Given the description of an element on the screen output the (x, y) to click on. 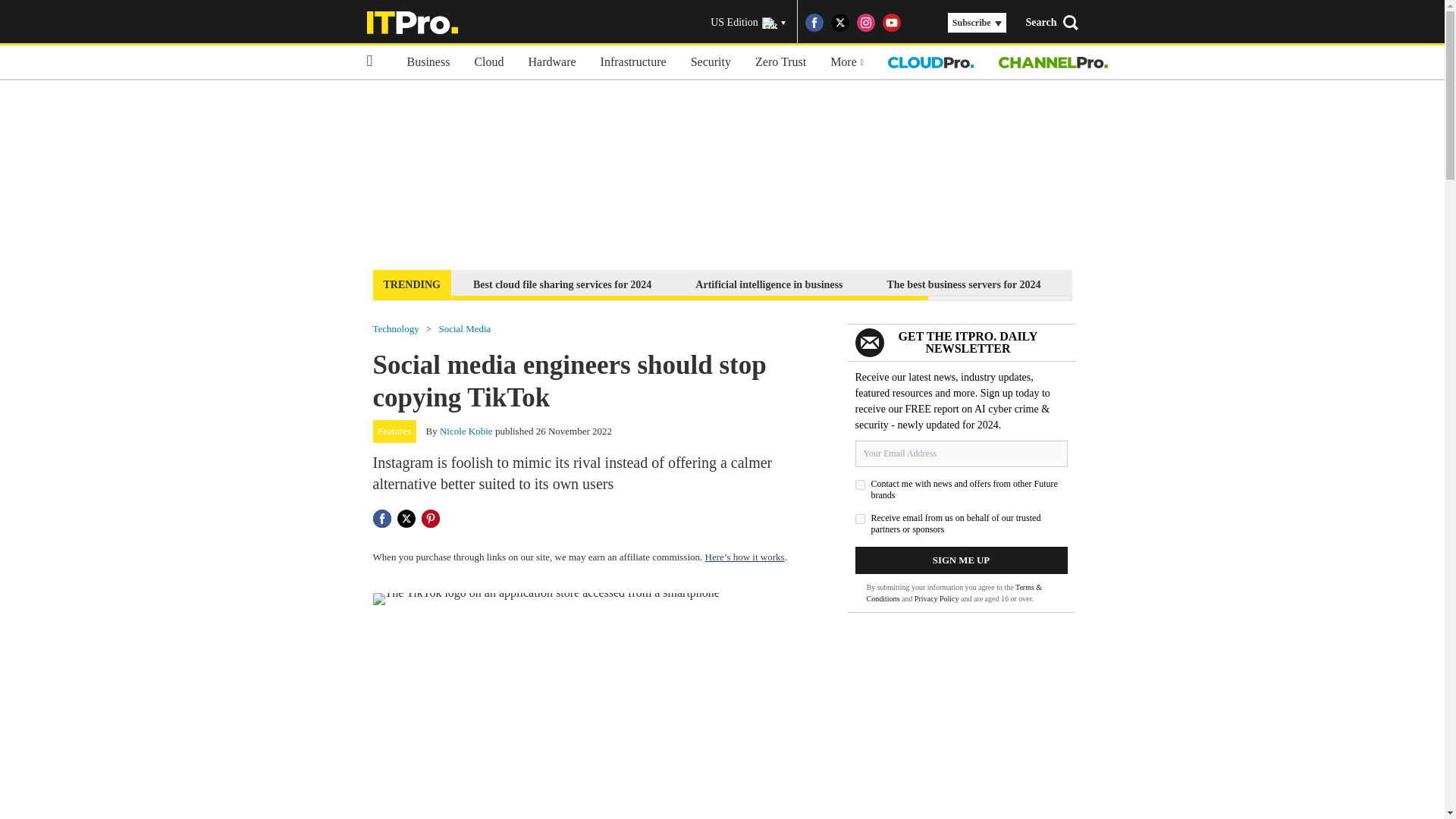
Business (427, 61)
Security (710, 61)
US Edition (748, 22)
Hardware (552, 61)
Technology (395, 327)
Sign me up (961, 560)
Zero Trust (780, 61)
Subscribe to the ITPro newsletter (1161, 284)
on (860, 484)
The best business servers for 2024 (962, 284)
